Given the description of an element on the screen output the (x, y) to click on. 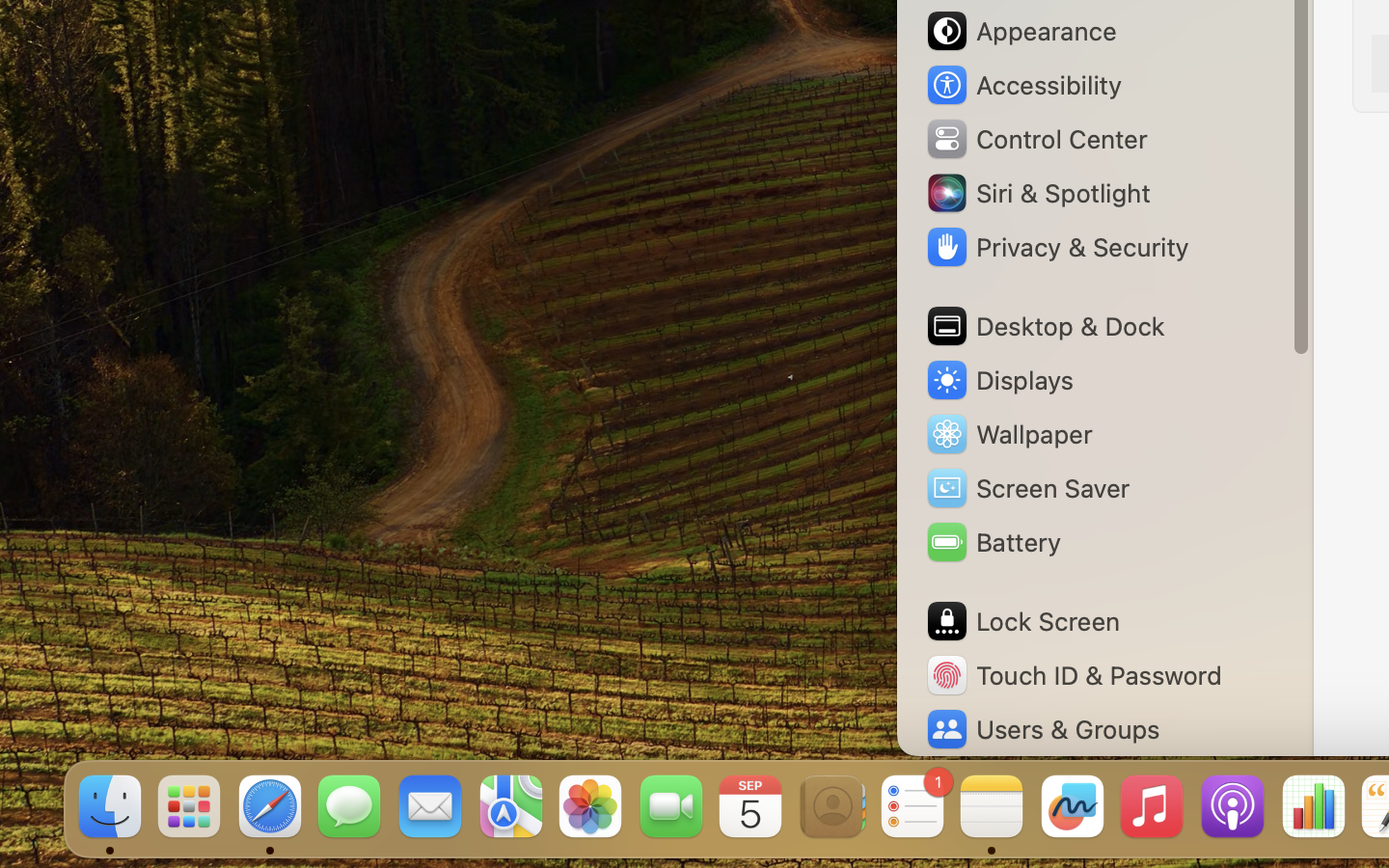
Appearance Element type: AXStaticText (1020, 30)
Siri & Spotlight Element type: AXStaticText (1036, 192)
Control Center Element type: AXStaticText (1035, 138)
Desktop & Dock Element type: AXStaticText (1044, 325)
Screen Saver Element type: AXStaticText (1027, 487)
